Given the description of an element on the screen output the (x, y) to click on. 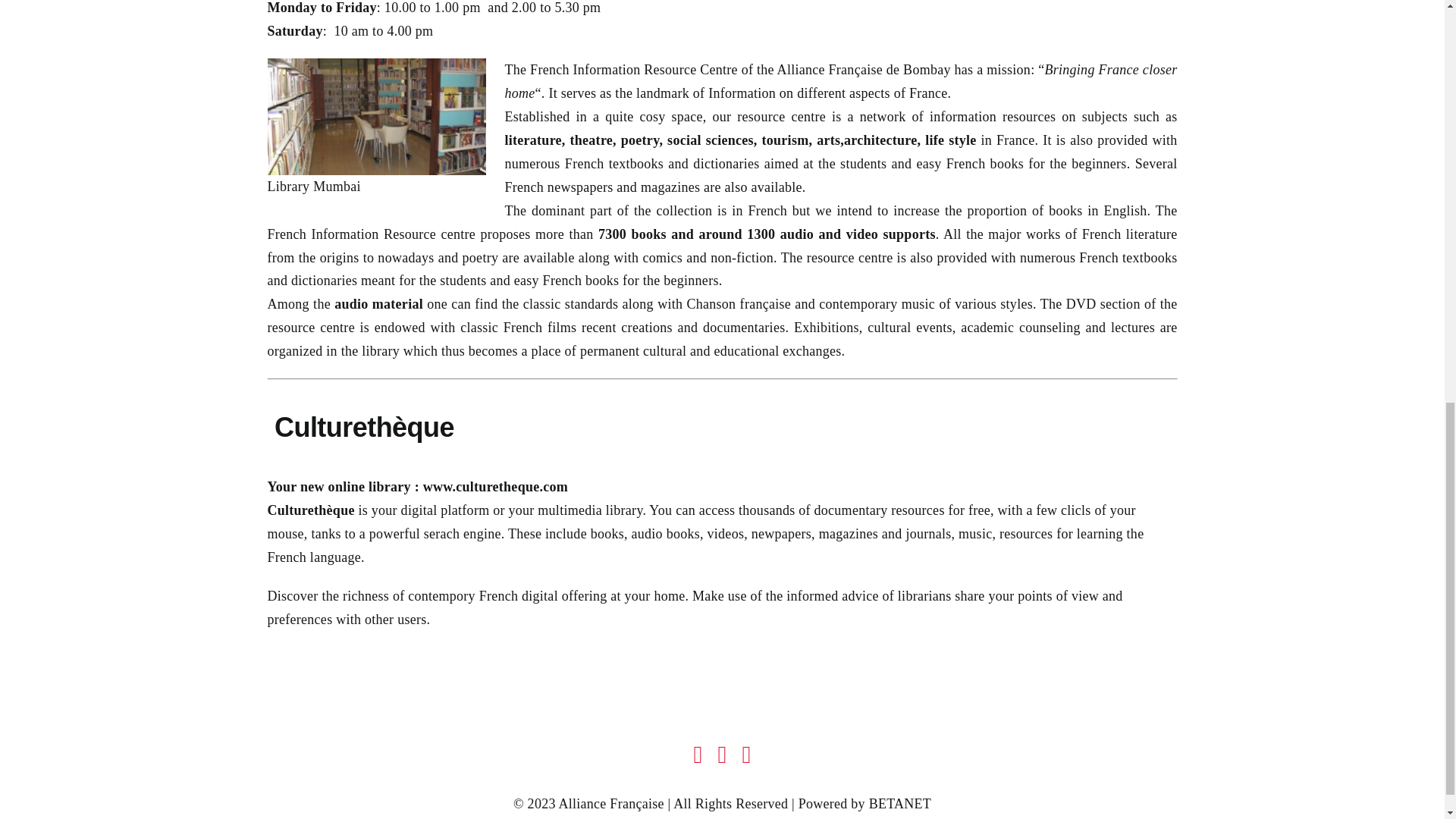
Library Mumbai (375, 116)
